Given the description of an element on the screen output the (x, y) to click on. 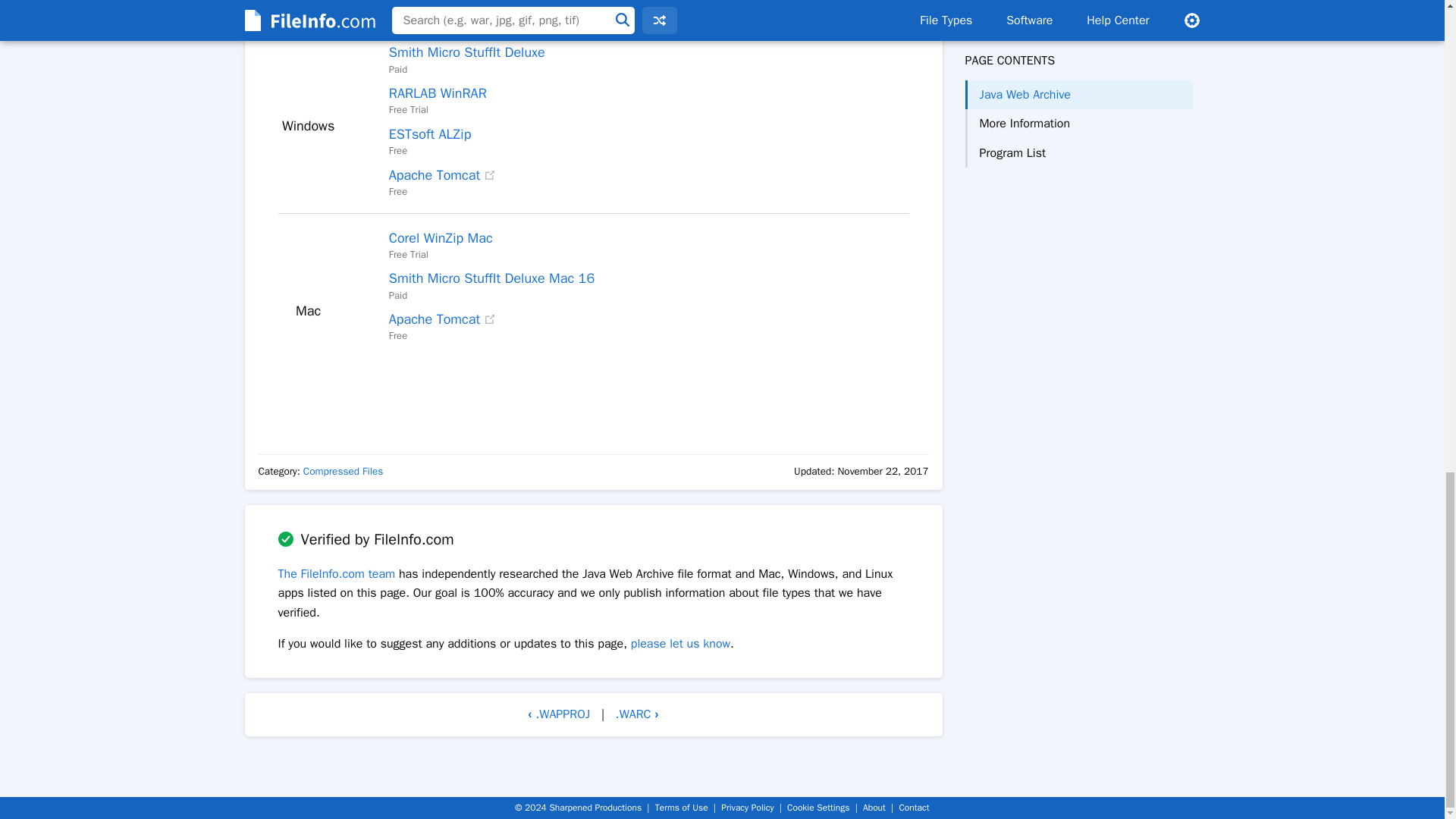
The FileInfo.com team (336, 573)
Get it from Microsoft (573, 12)
Smith Micro StuffIt Deluxe (466, 52)
please let us know (680, 643)
Smith Micro StuffIt Deluxe Mac 16 (491, 278)
RARLAB WinRAR (437, 93)
ESTsoft ALZip (429, 134)
Corel WinZip Mac (440, 238)
File Viewer Plus (434, 12)
Compressed Files (342, 471)
